Given the description of an element on the screen output the (x, y) to click on. 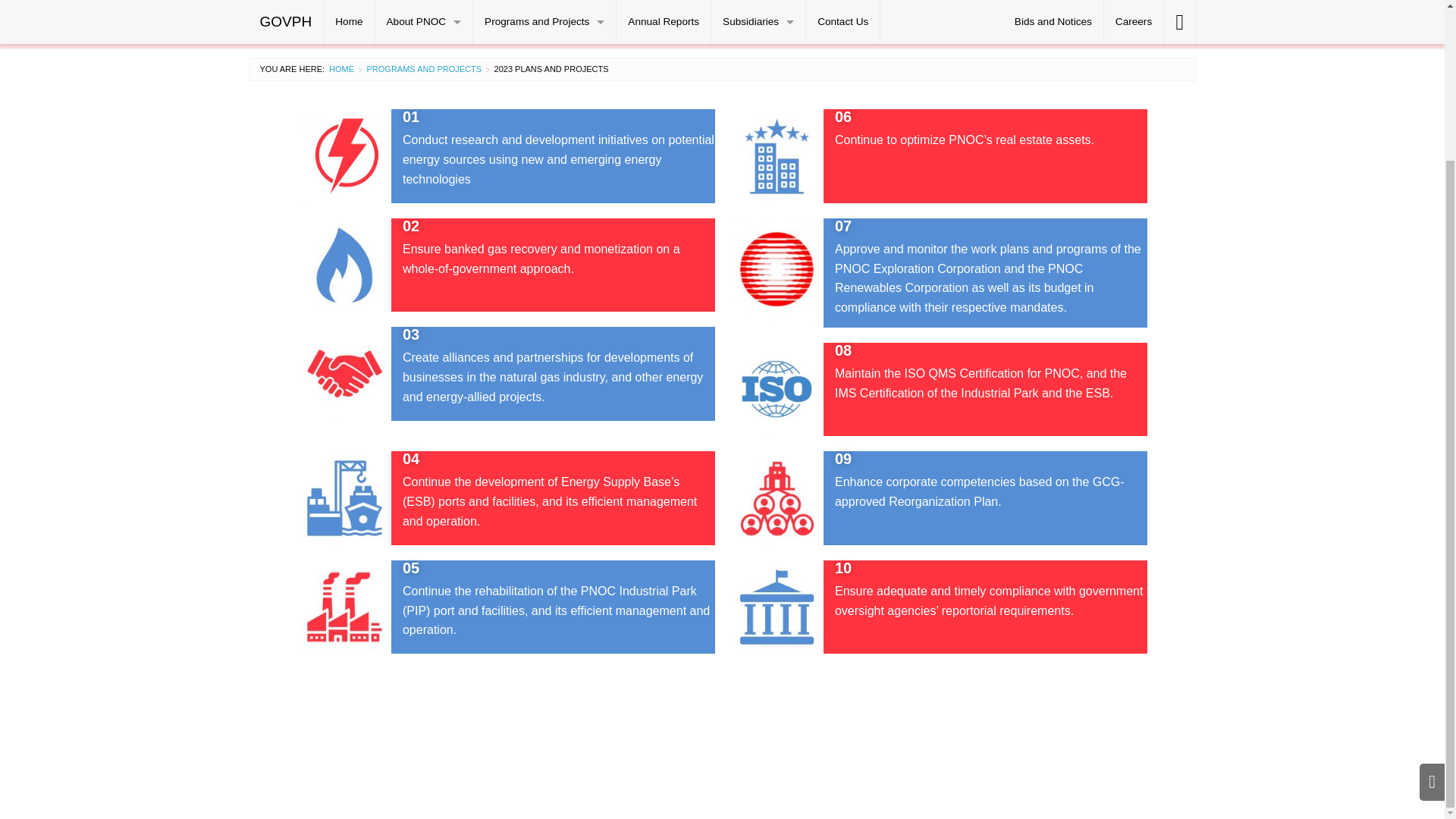
Programs and Projects (423, 68)
